Given the description of an element on the screen output the (x, y) to click on. 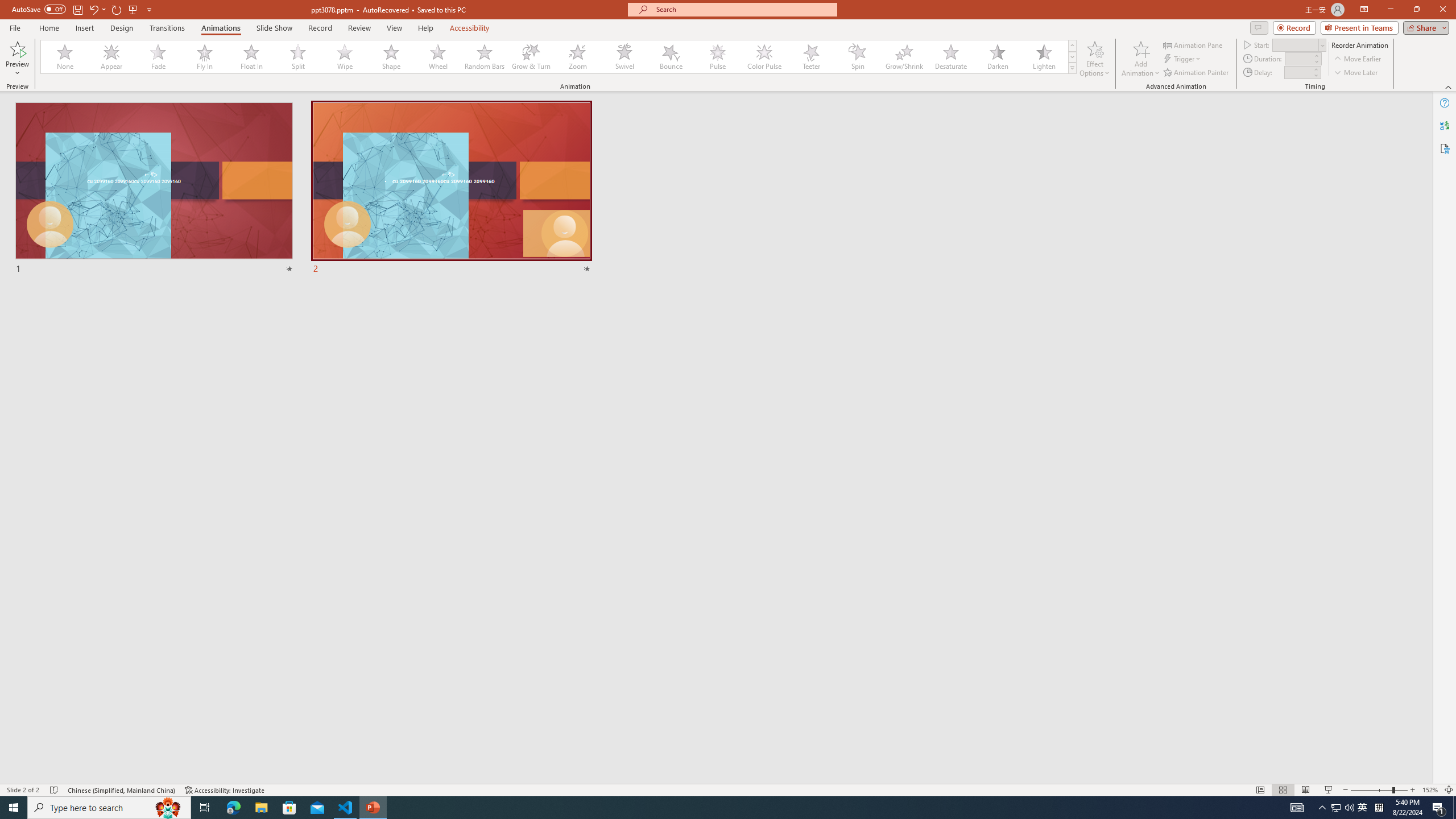
Move Later (1355, 72)
Lighten (1043, 56)
Spin (857, 56)
Wipe (344, 56)
Random Bars (484, 56)
